Given the description of an element on the screen output the (x, y) to click on. 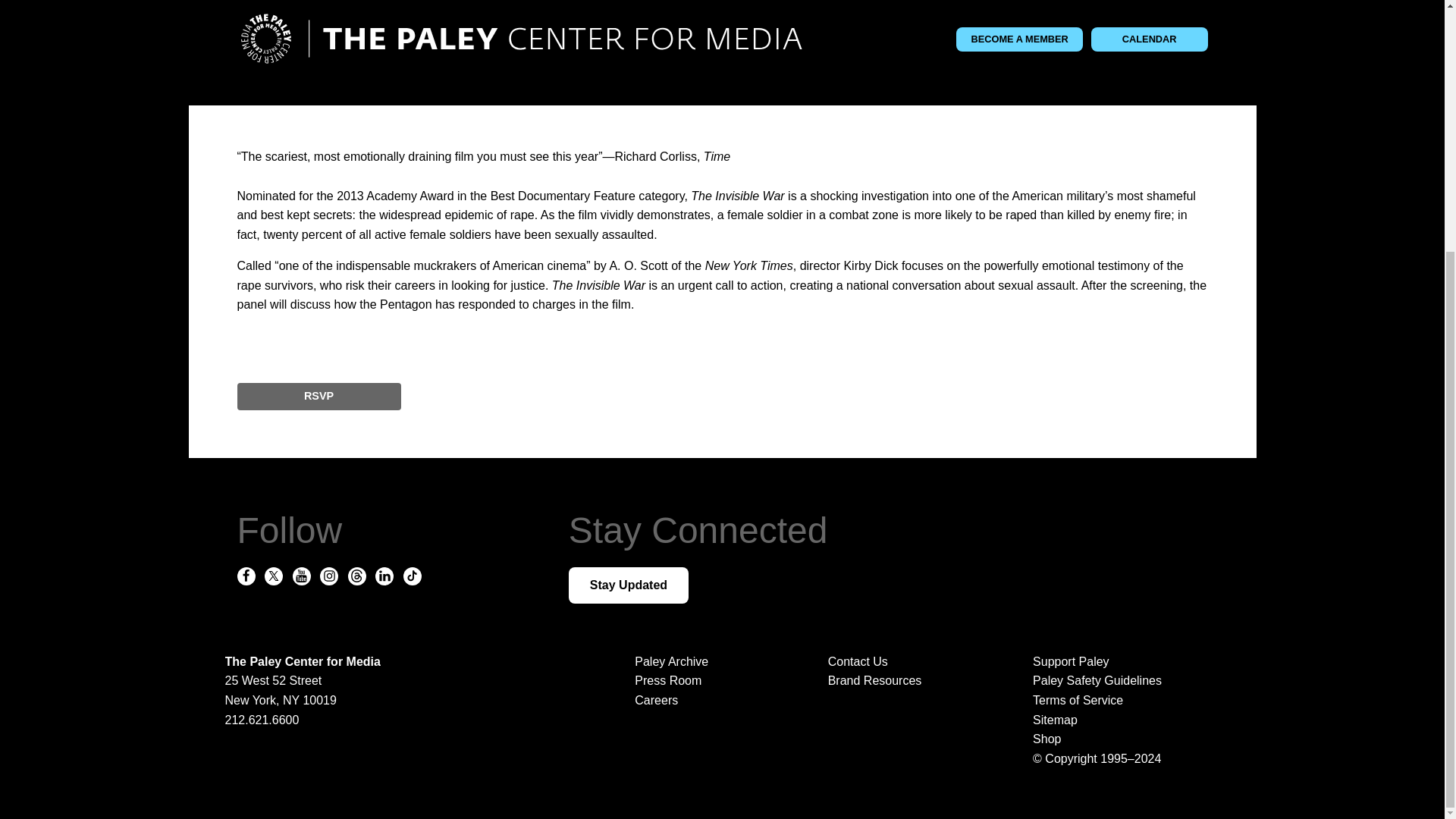
Press Room (667, 680)
Shop (1119, 739)
Brand Resources (874, 680)
Paley Safety Guidelines (1119, 680)
Support Paley (1119, 661)
Sitemap (1119, 720)
Terms of Service (1119, 700)
Contact Us (858, 661)
Paley Archive (670, 661)
Careers (656, 699)
